Given the description of an element on the screen output the (x, y) to click on. 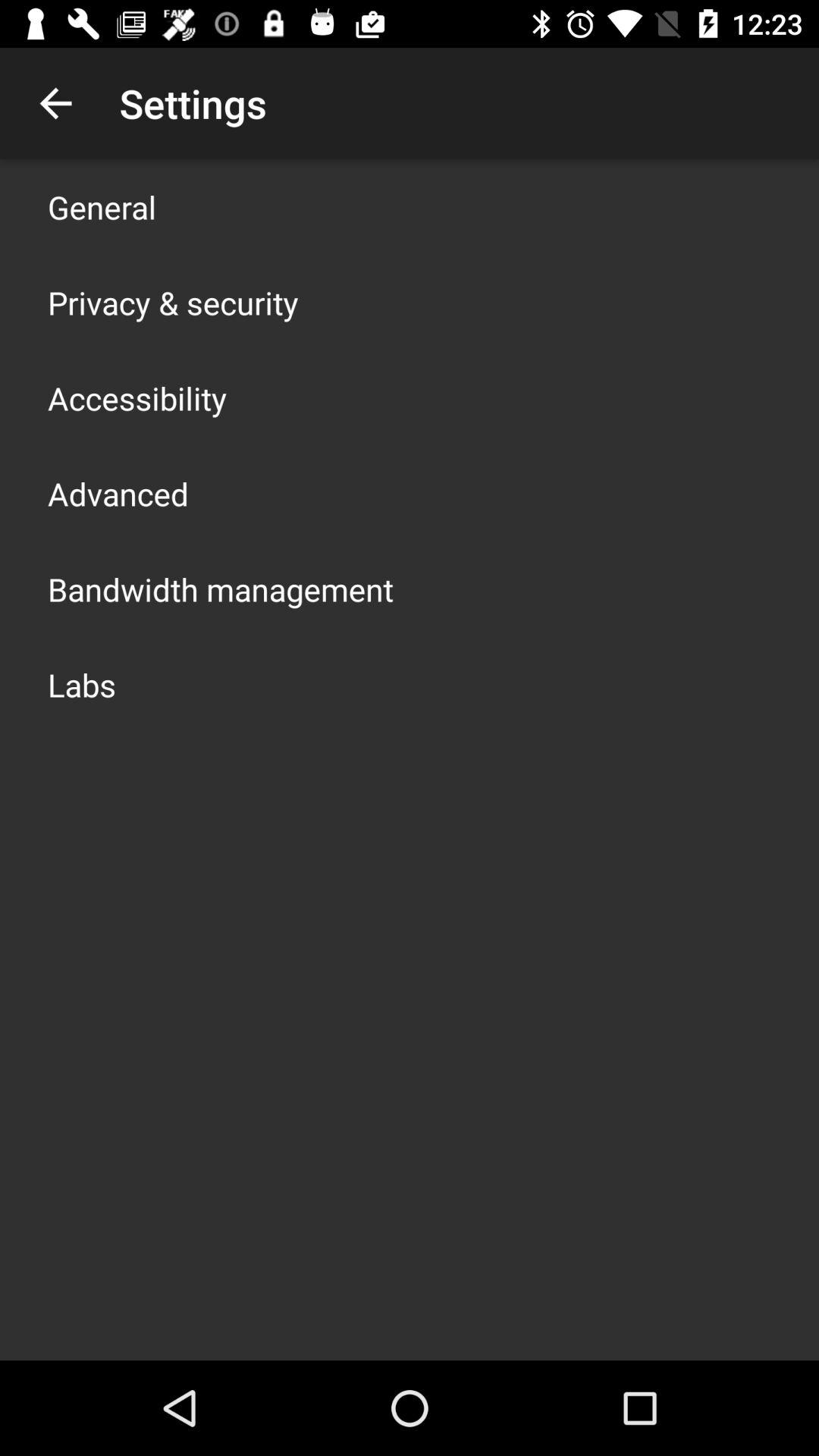
open the icon below bandwidth management app (81, 684)
